Given the description of an element on the screen output the (x, y) to click on. 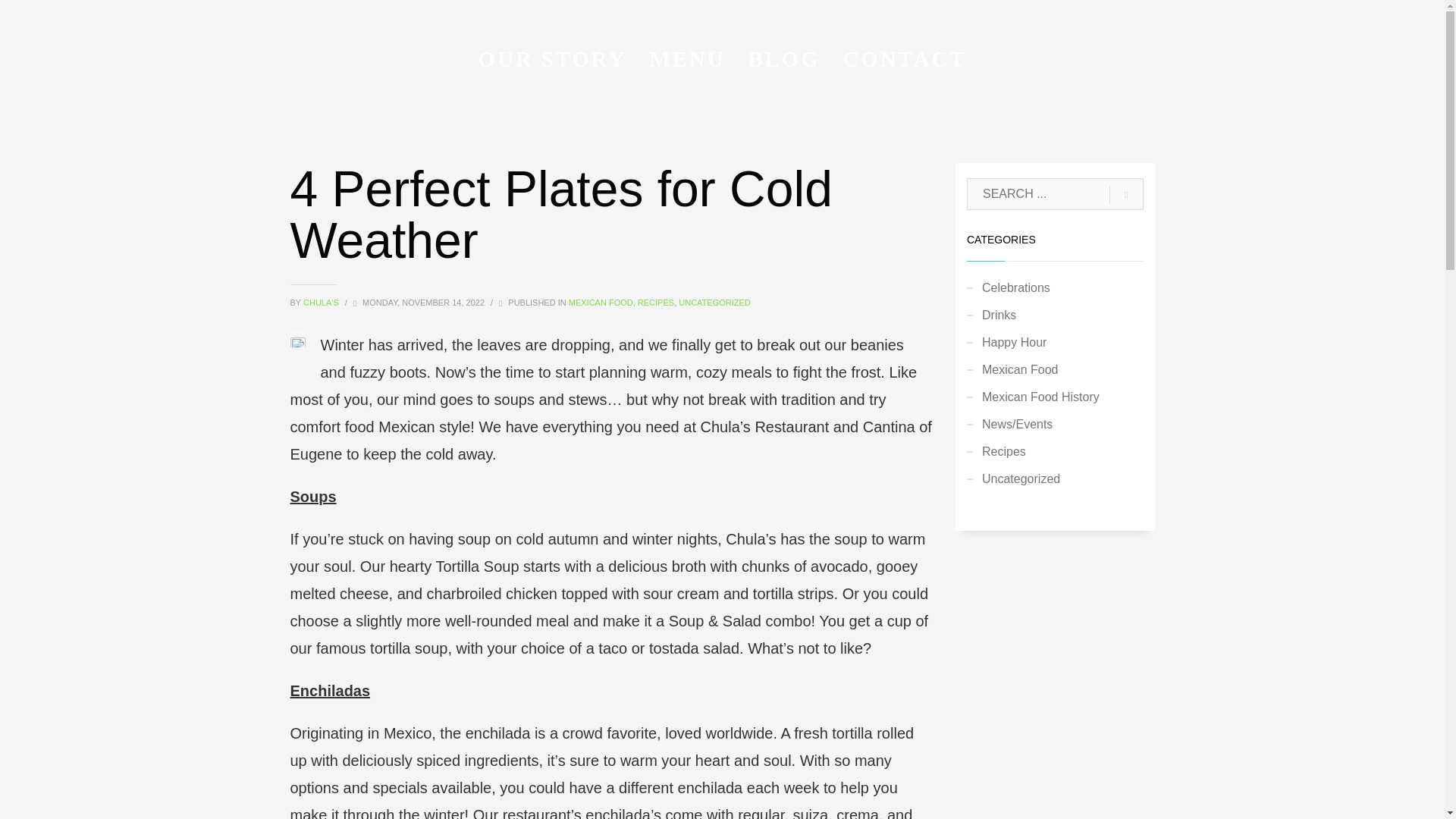
Recipes (1054, 452)
BLOG (783, 58)
chulas-combo-plate (296, 342)
RECIPES (655, 302)
MENU (686, 58)
OUR STORY (552, 58)
CHULA'S (321, 302)
UNCATEGORIZED (714, 302)
Happy Hour (1054, 342)
Mexican Food History (1054, 397)
